Given the description of an element on the screen output the (x, y) to click on. 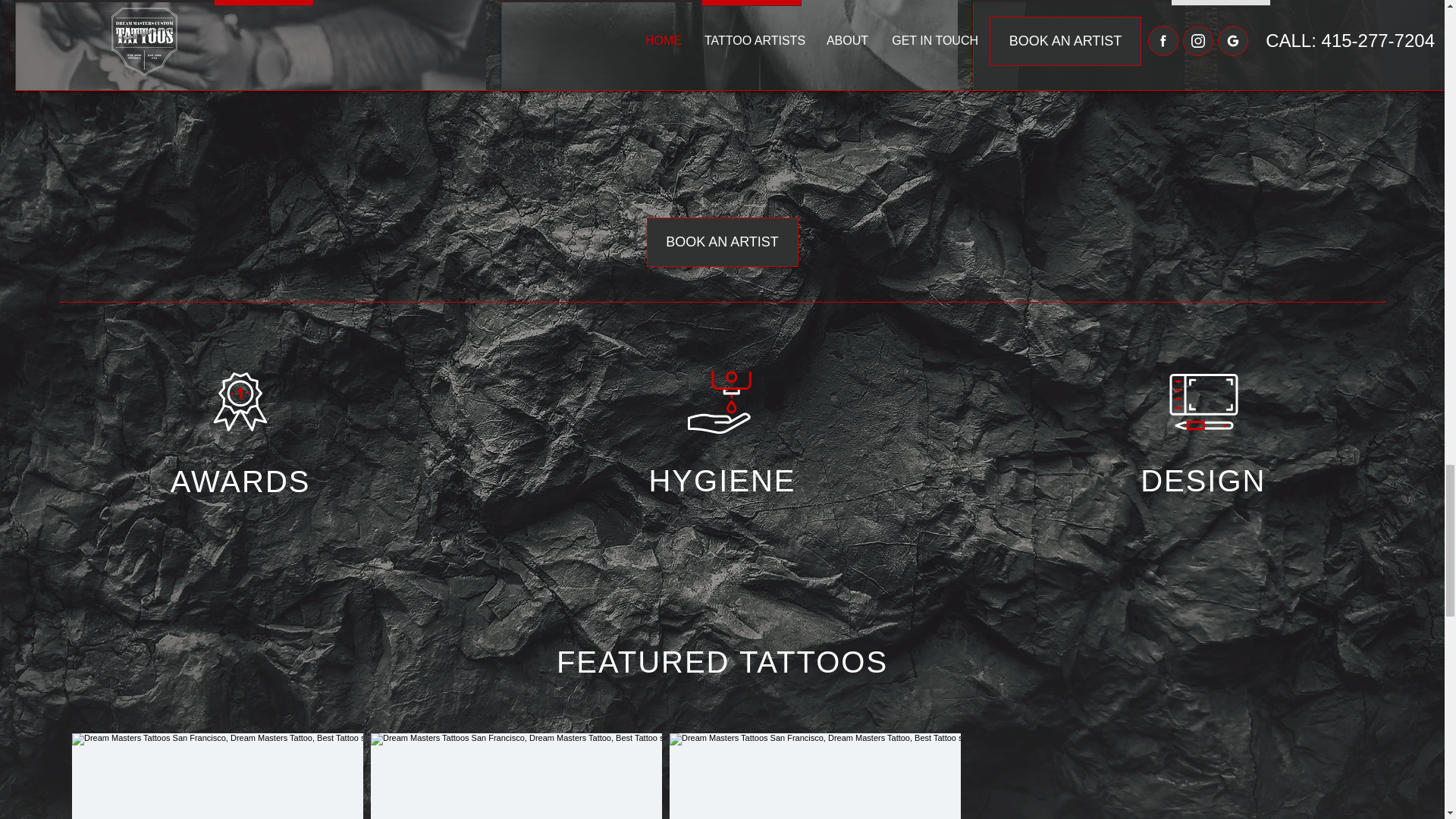
AWARDS (240, 481)
VIEW (264, 2)
BOOK AN ARTIST (721, 241)
VIEW (1220, 2)
HYGIENE (720, 480)
DESIGN (1202, 480)
VIEW (751, 2)
